Given the description of an element on the screen output the (x, y) to click on. 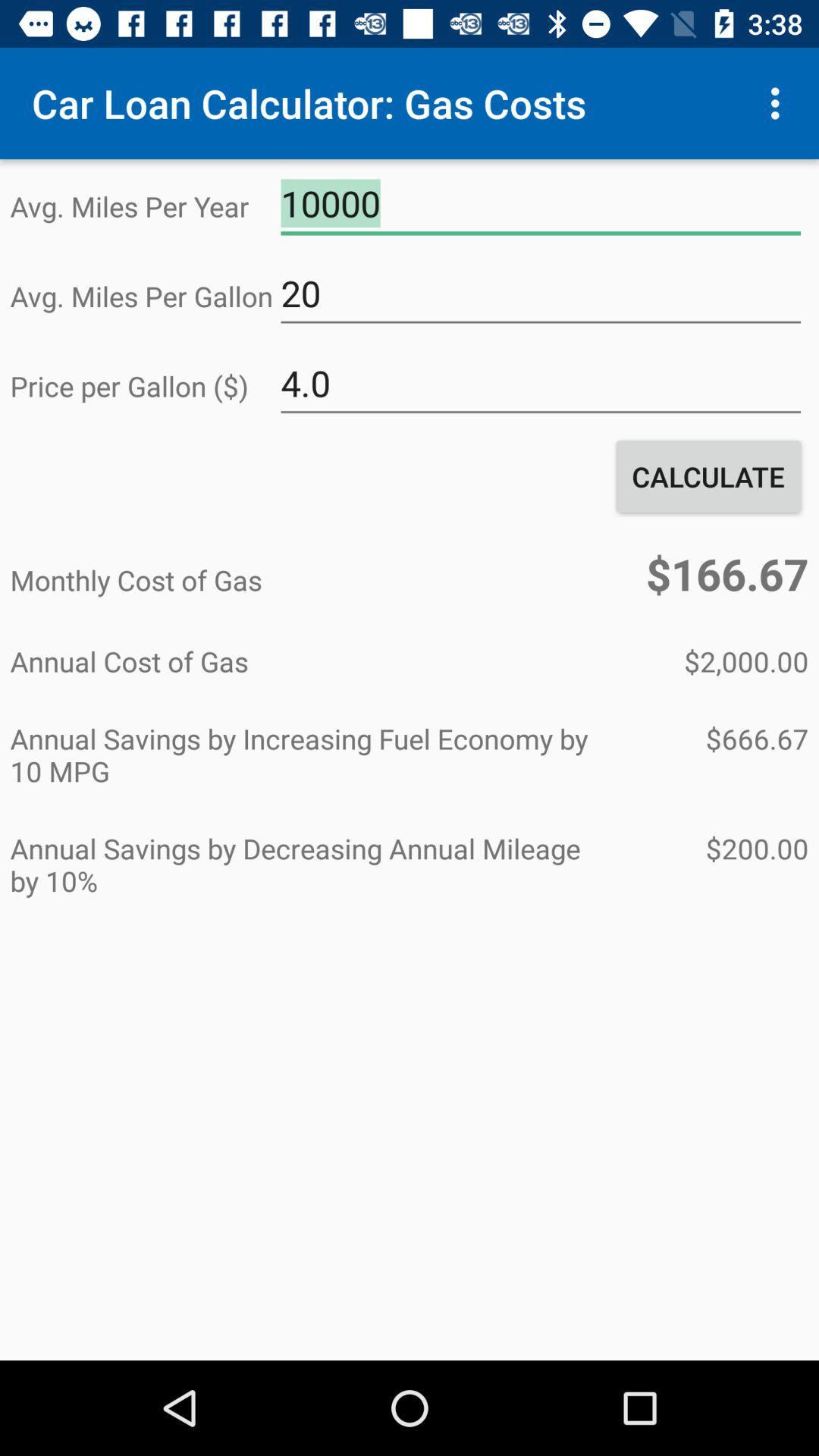
click item above the calculate (540, 383)
